Given the description of an element on the screen output the (x, y) to click on. 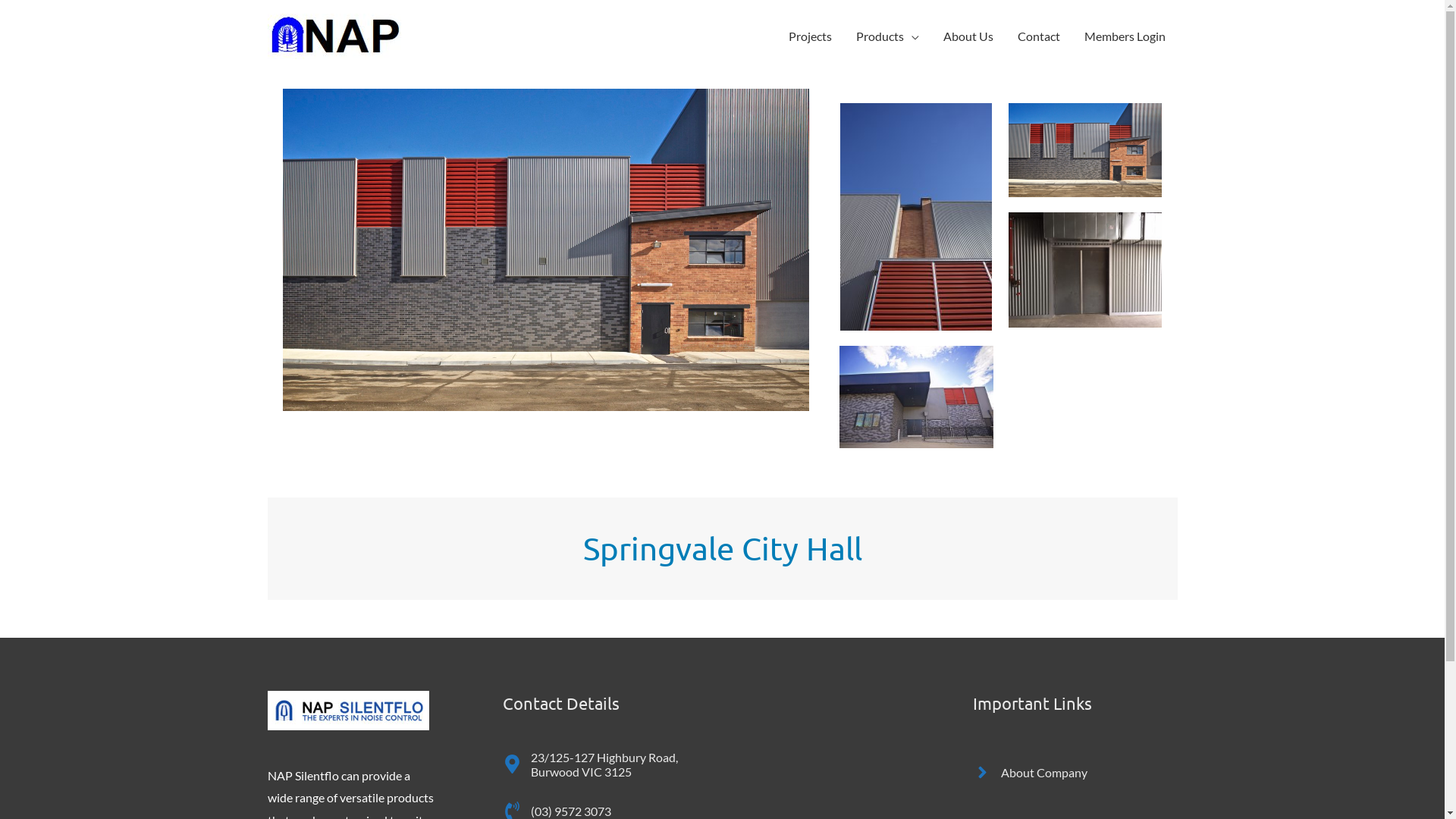
Springvale Louvres Element type: hover (1085, 150)
IMG_1913 Element type: hover (1085, 269)
Projects Element type: text (810, 36)
23/125-127 Highbury Road, Burwood VIC 3125 Element type: text (604, 763)
Springvale Louvres 2 Element type: hover (916, 396)
About Company Element type: text (1029, 771)
Springvale Louvres 1 Element type: hover (915, 216)
Springvale Louvres Element type: hover (545, 249)
About Us Element type: text (968, 36)
Products Element type: text (886, 36)
Members Login Element type: text (1124, 36)
Contact Element type: text (1038, 36)
